Given the description of an element on the screen output the (x, y) to click on. 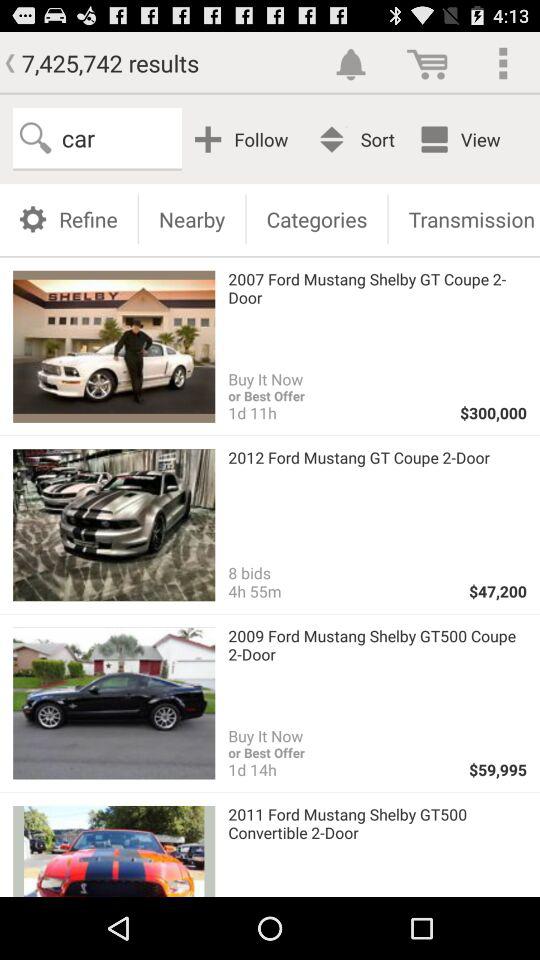
turn on the app below the view icon (464, 218)
